Given the description of an element on the screen output the (x, y) to click on. 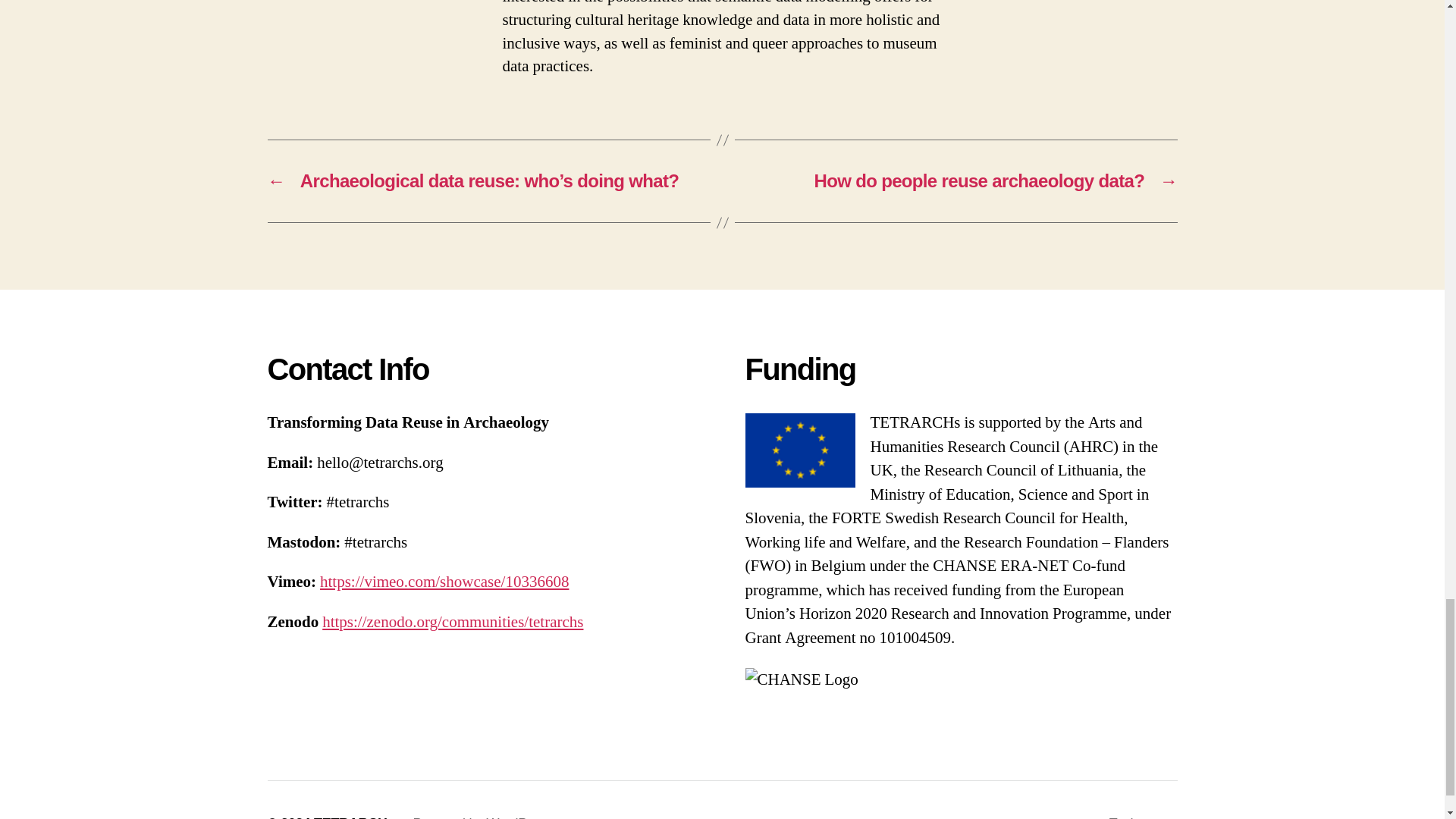
Powered by WordPress (481, 817)
TETRARCHs (354, 817)
